Given the description of an element on the screen output the (x, y) to click on. 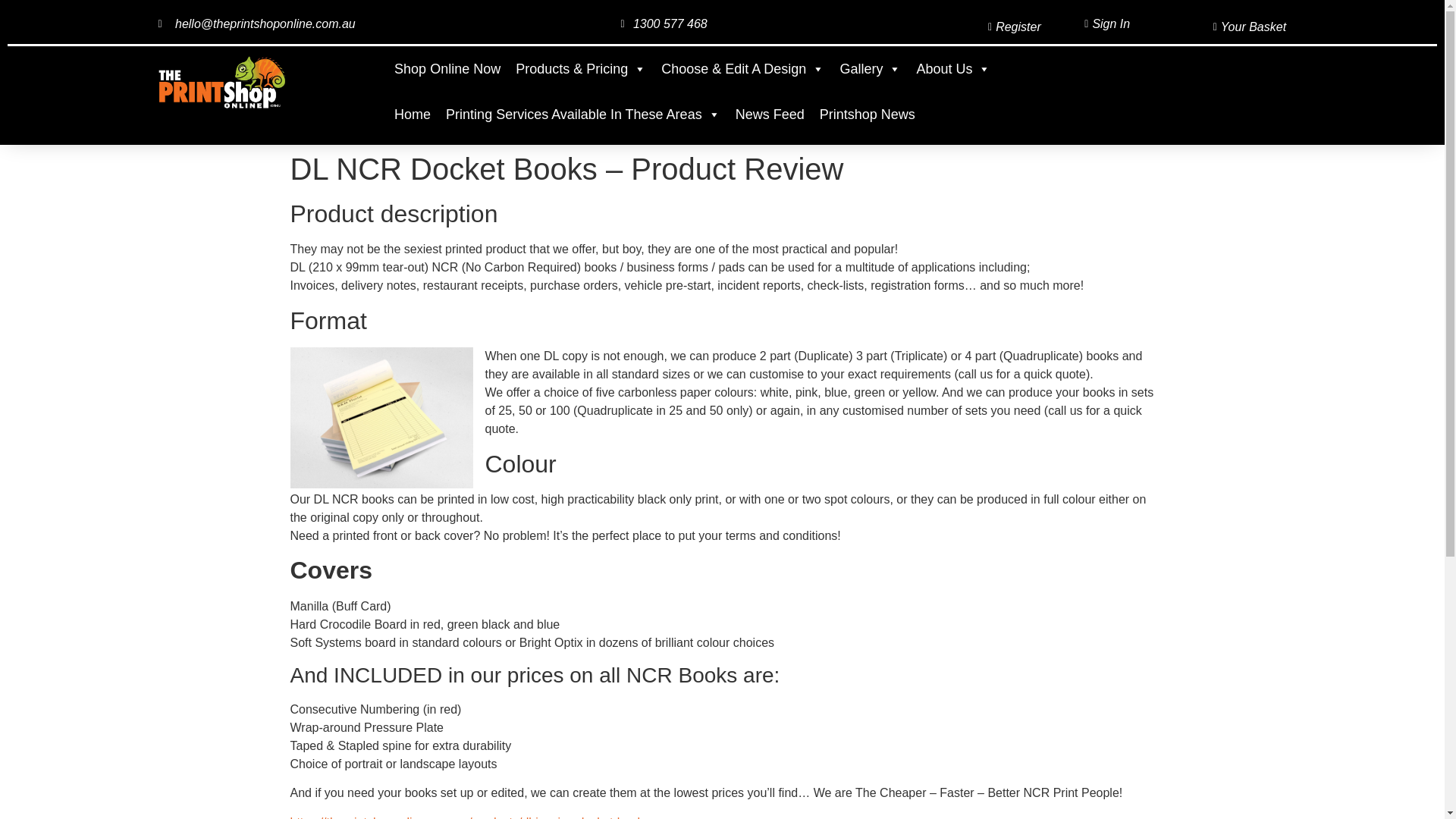
Shop Online Now (447, 69)
Your Basket (1214, 27)
1300 577 468 (661, 24)
Sign In (1093, 24)
Register (967, 27)
